Given the description of an element on the screen output the (x, y) to click on. 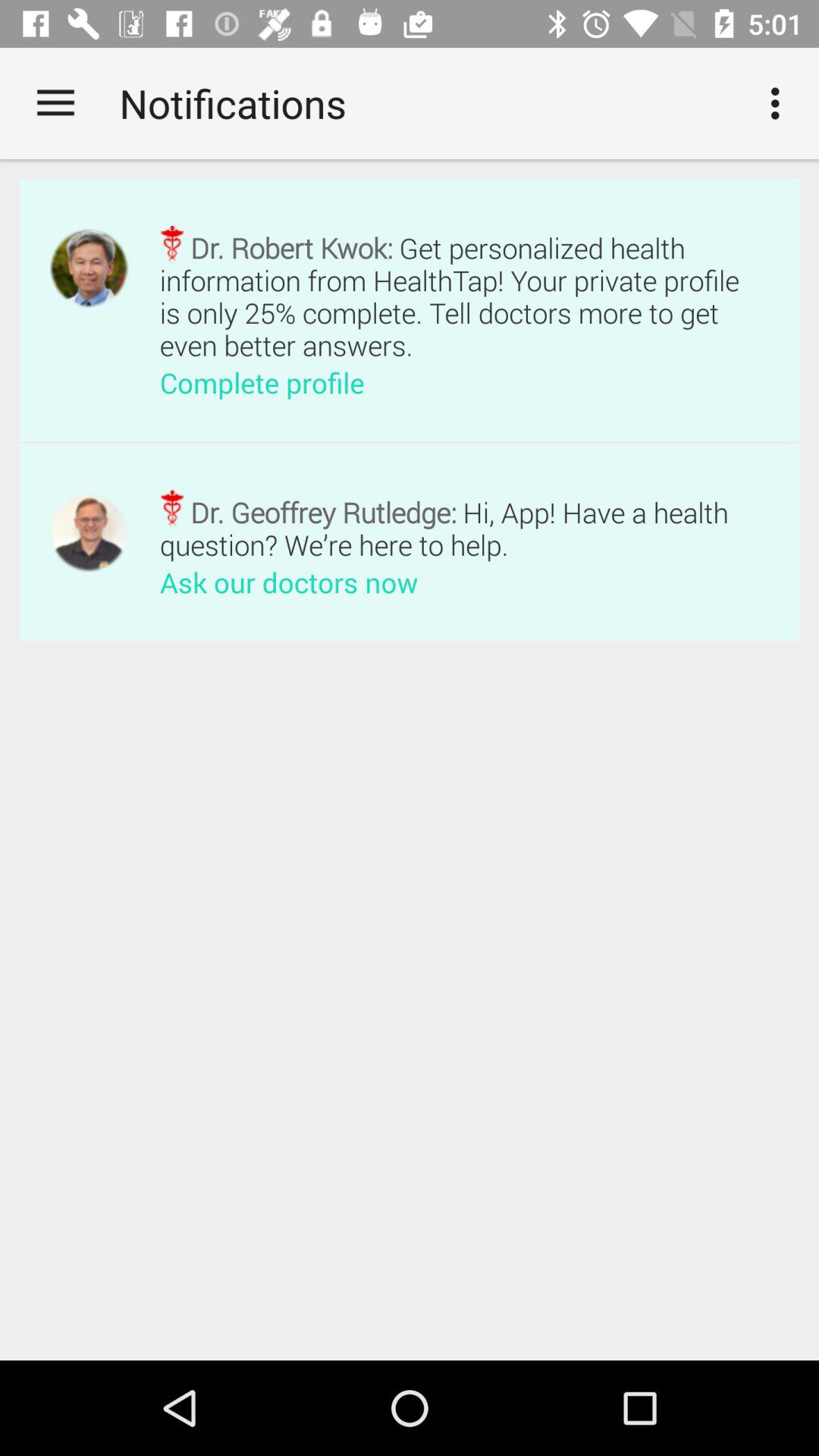
open the item next to notifications app (779, 103)
